Given the description of an element on the screen output the (x, y) to click on. 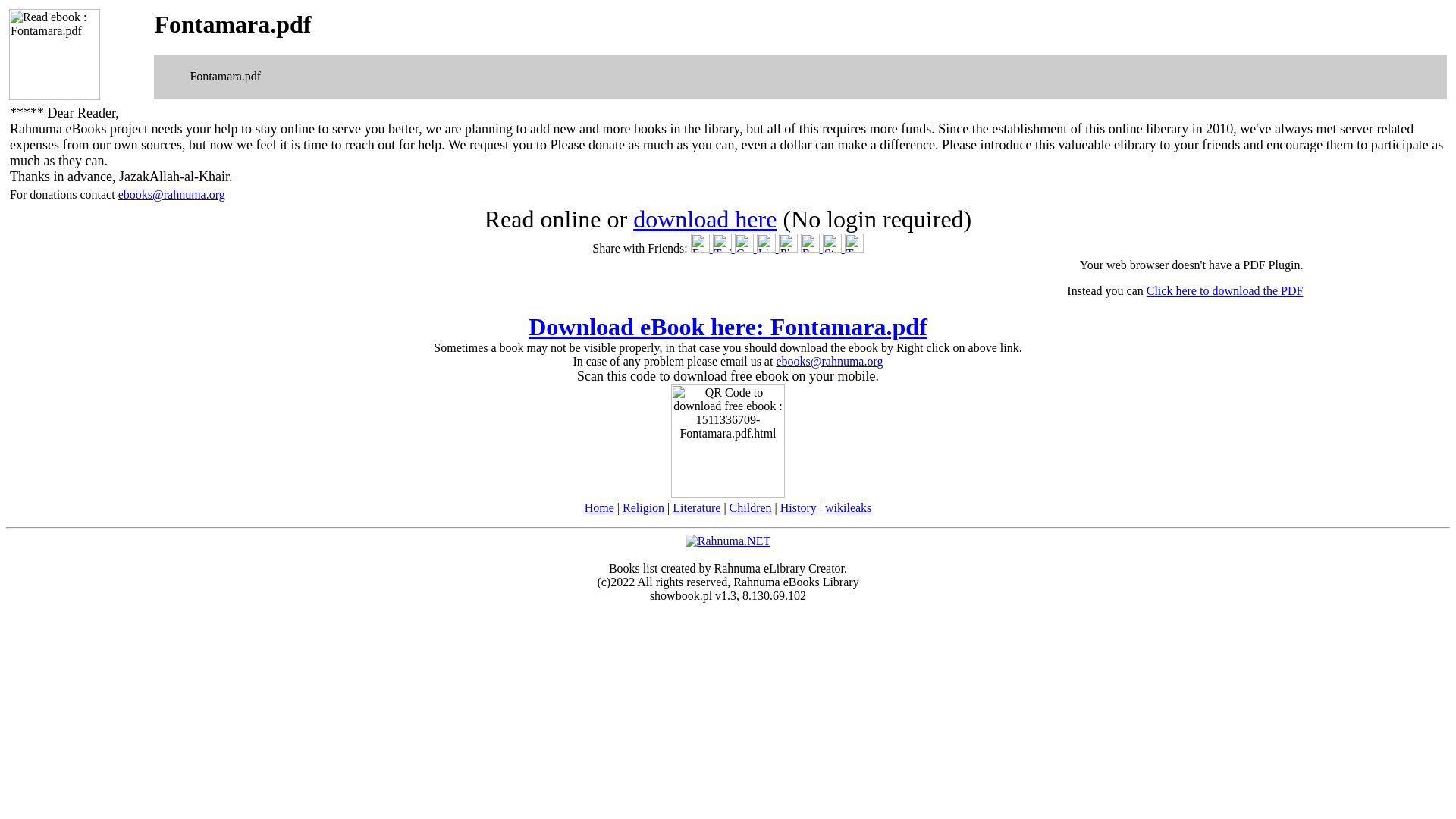
Download eBook here: Fontamara.pdf (727, 326)
Children (750, 507)
Religion (643, 507)
download here (704, 218)
Literature (696, 507)
History (798, 507)
wikileaks (847, 507)
Click here to download the PDF (1225, 290)
Home (599, 507)
